Given the description of an element on the screen output the (x, y) to click on. 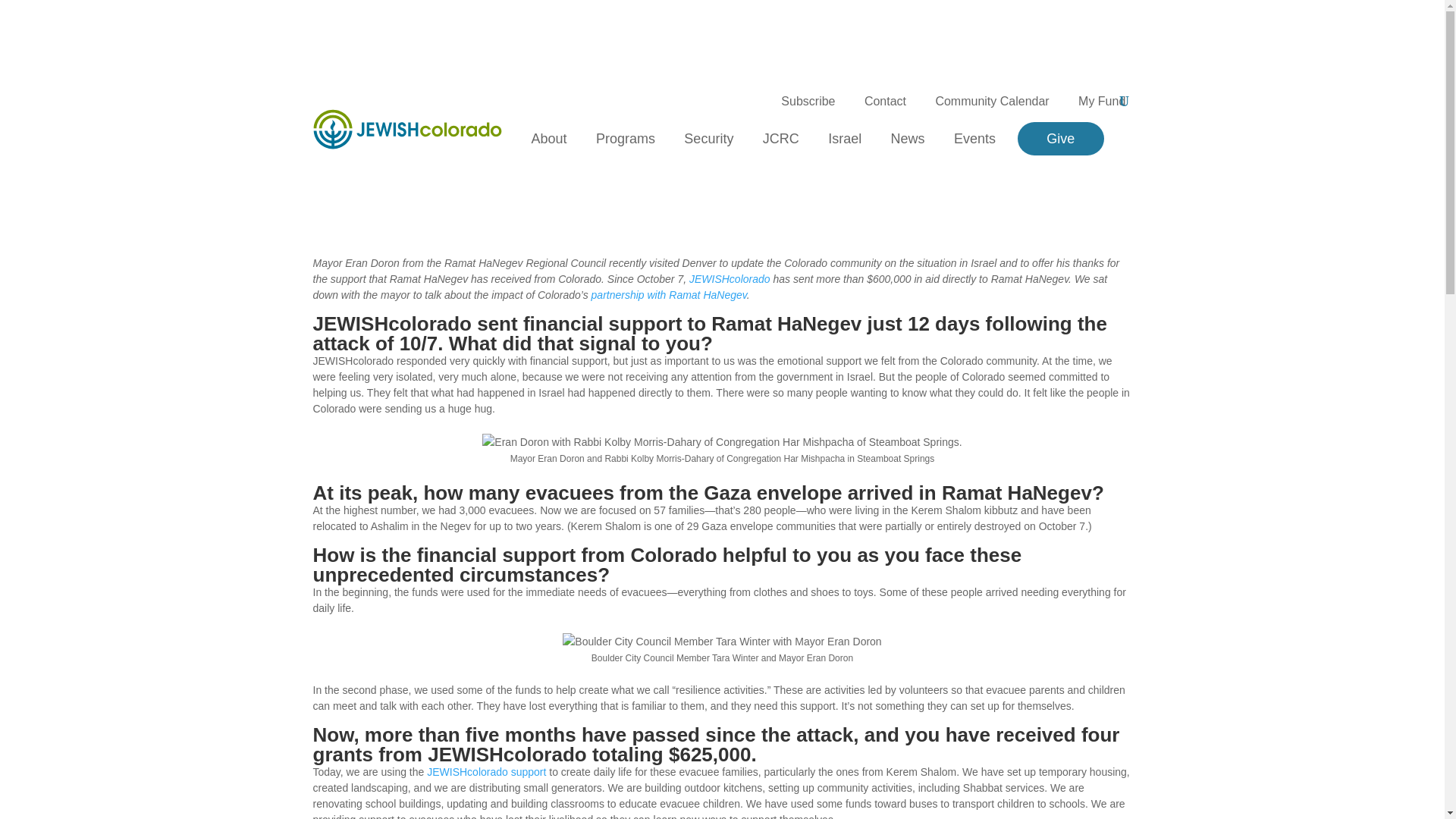
Contact (884, 101)
Give (1060, 138)
News (907, 138)
Events (974, 138)
Subscribe (807, 101)
Community Calendar (991, 101)
Israel (844, 138)
JCRC (780, 138)
Programs (625, 138)
My Fund (1101, 101)
